Given the description of an element on the screen output the (x, y) to click on. 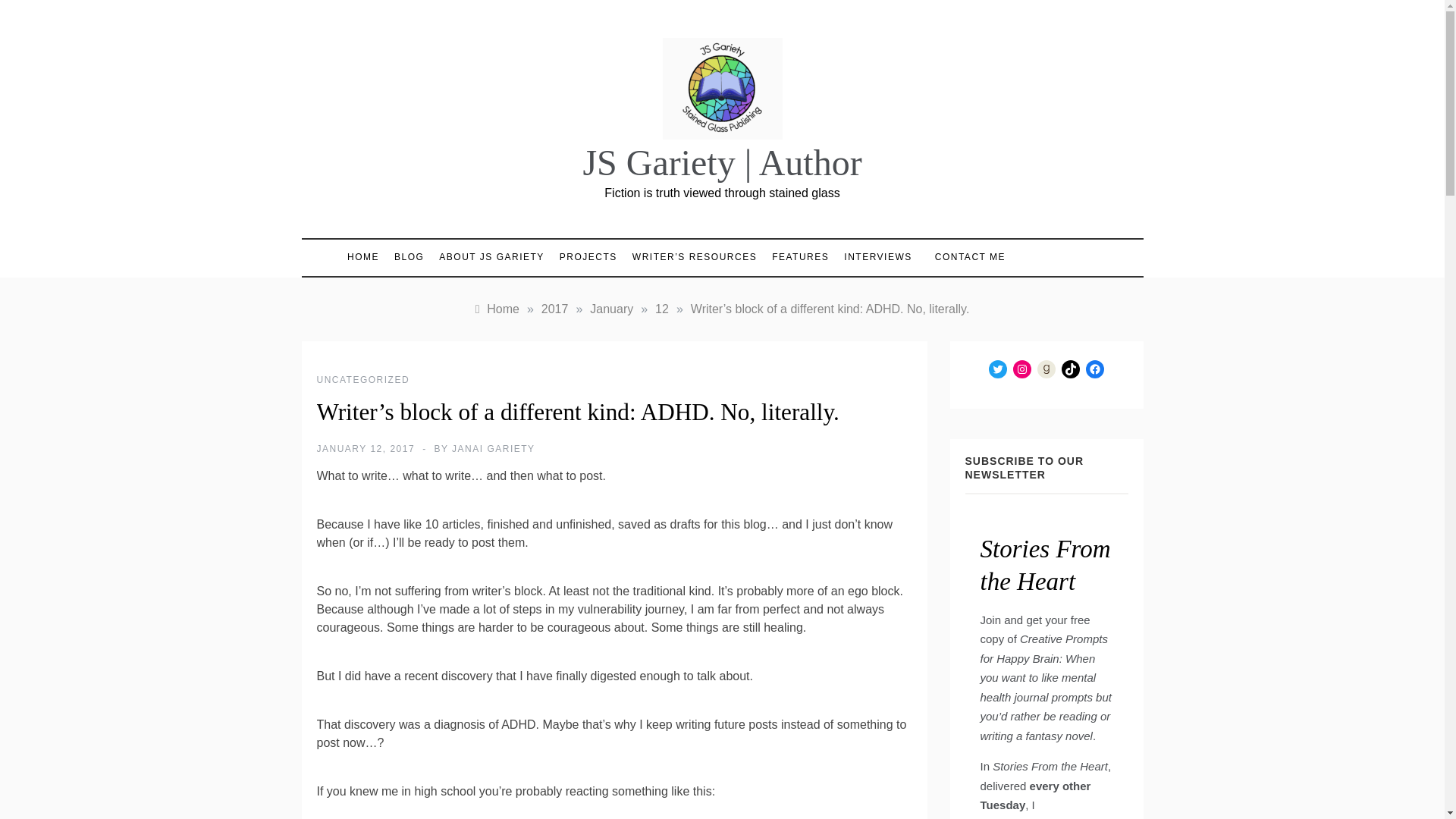
JANUARY 12, 2017 (365, 448)
JANAI GARIETY (493, 448)
CONTACT ME (963, 256)
ABOUT JS GARIETY (490, 257)
BLOG (408, 257)
FEATURES (799, 257)
UNCATEGORIZED (363, 379)
HOME (367, 257)
INTERVIEWS (876, 257)
PROJECTS (587, 257)
